Given the description of an element on the screen output the (x, y) to click on. 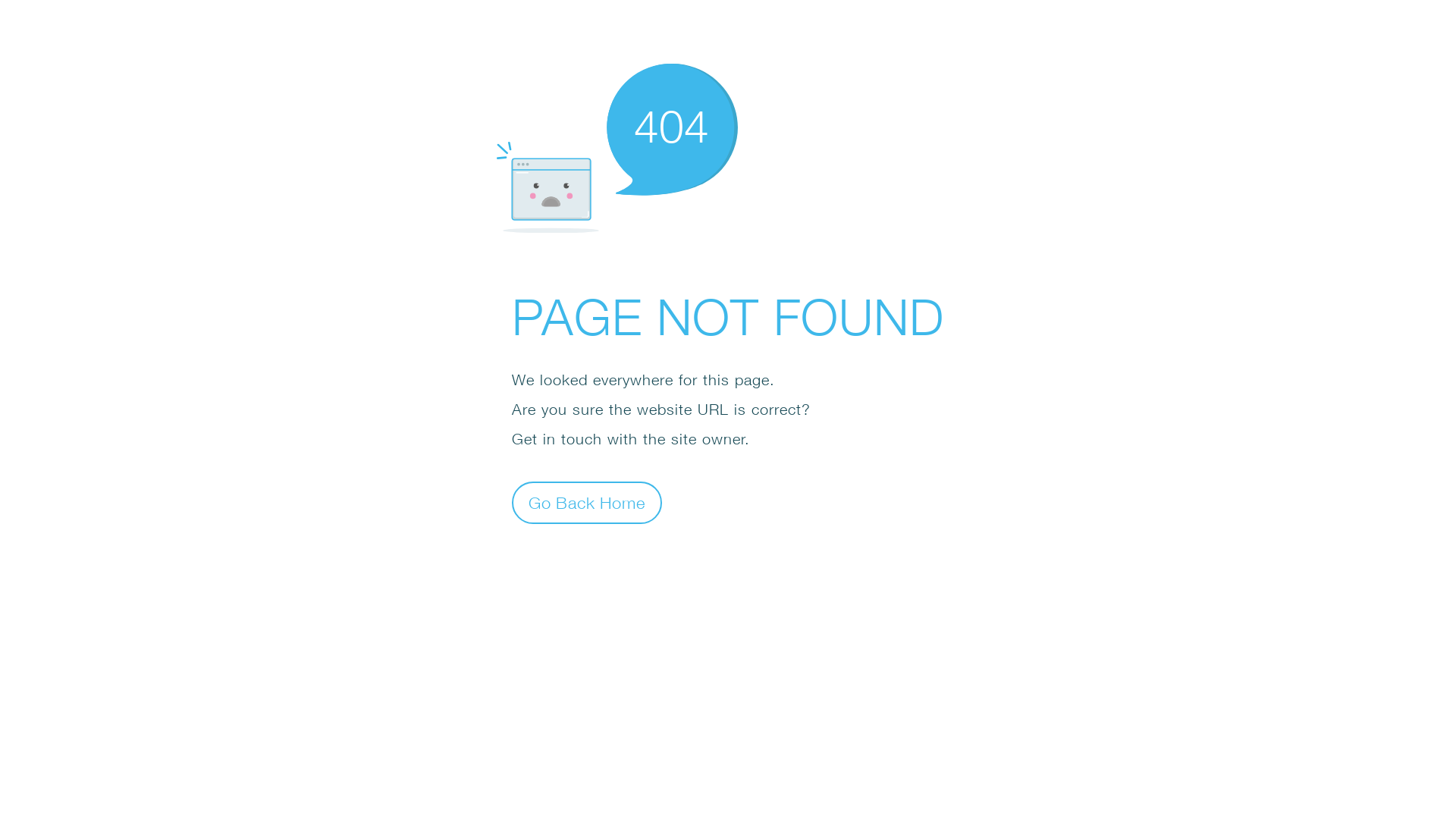
Go Back Home Element type: text (586, 502)
